Given the description of an element on the screen output the (x, y) to click on. 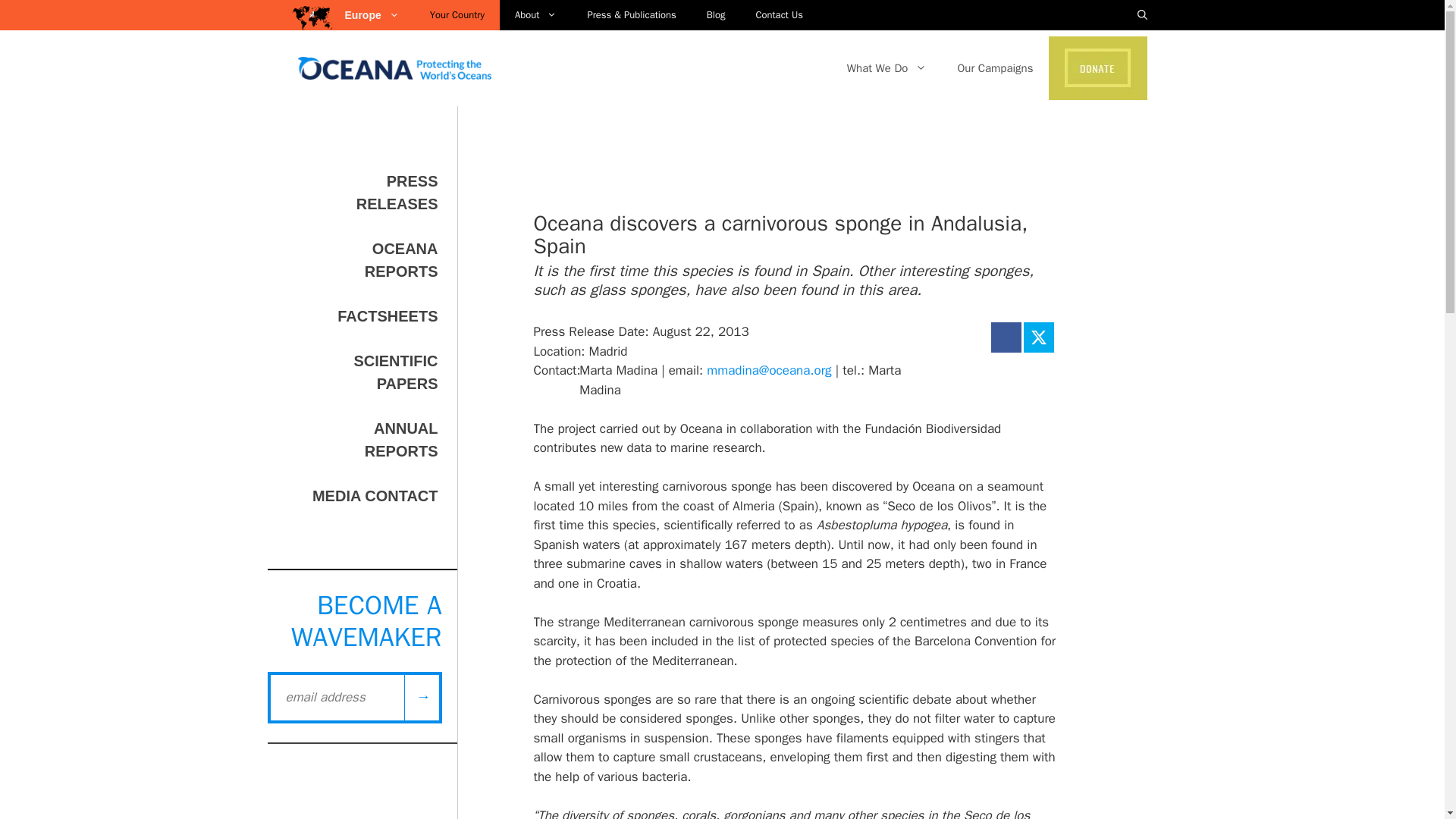
OCEANA REPORTS (401, 260)
Your Country (456, 15)
Our Campaigns (995, 67)
About (535, 15)
PRESS RELEASES (397, 192)
Contact Us (778, 15)
FACTSHEETS (387, 315)
MEDIA CONTACT (375, 495)
SCIENTIFIC PAPERS (395, 372)
ANNUAL REPORTS (401, 439)
Europe (378, 15)
Blog (716, 15)
What We Do (886, 67)
donate-header-1 (1097, 67)
